Given the description of an element on the screen output the (x, y) to click on. 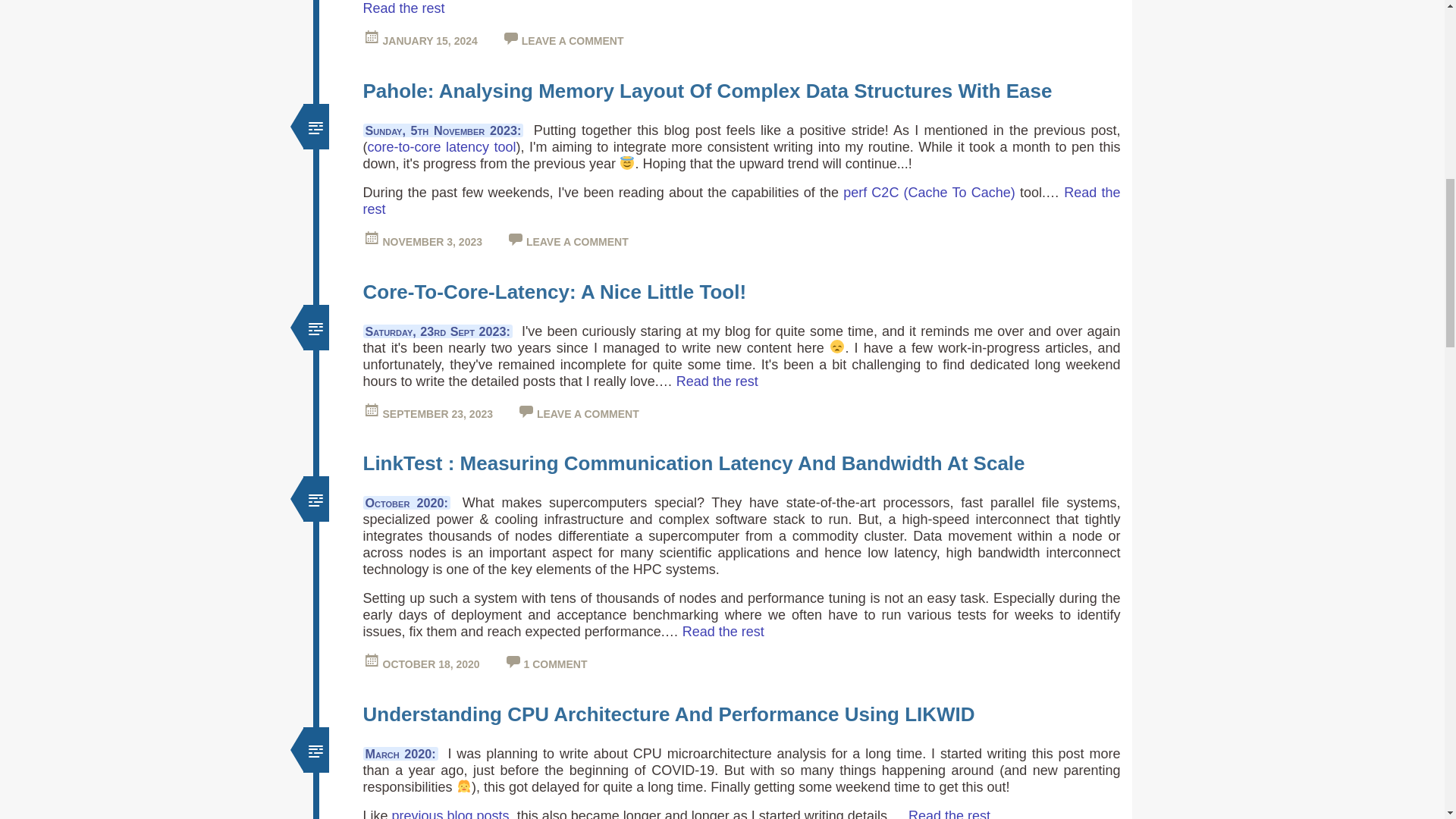
1:53 am (429, 40)
11:28 pm (431, 241)
1:53 pm (437, 413)
10:02 am (430, 664)
